Given the description of an element on the screen output the (x, y) to click on. 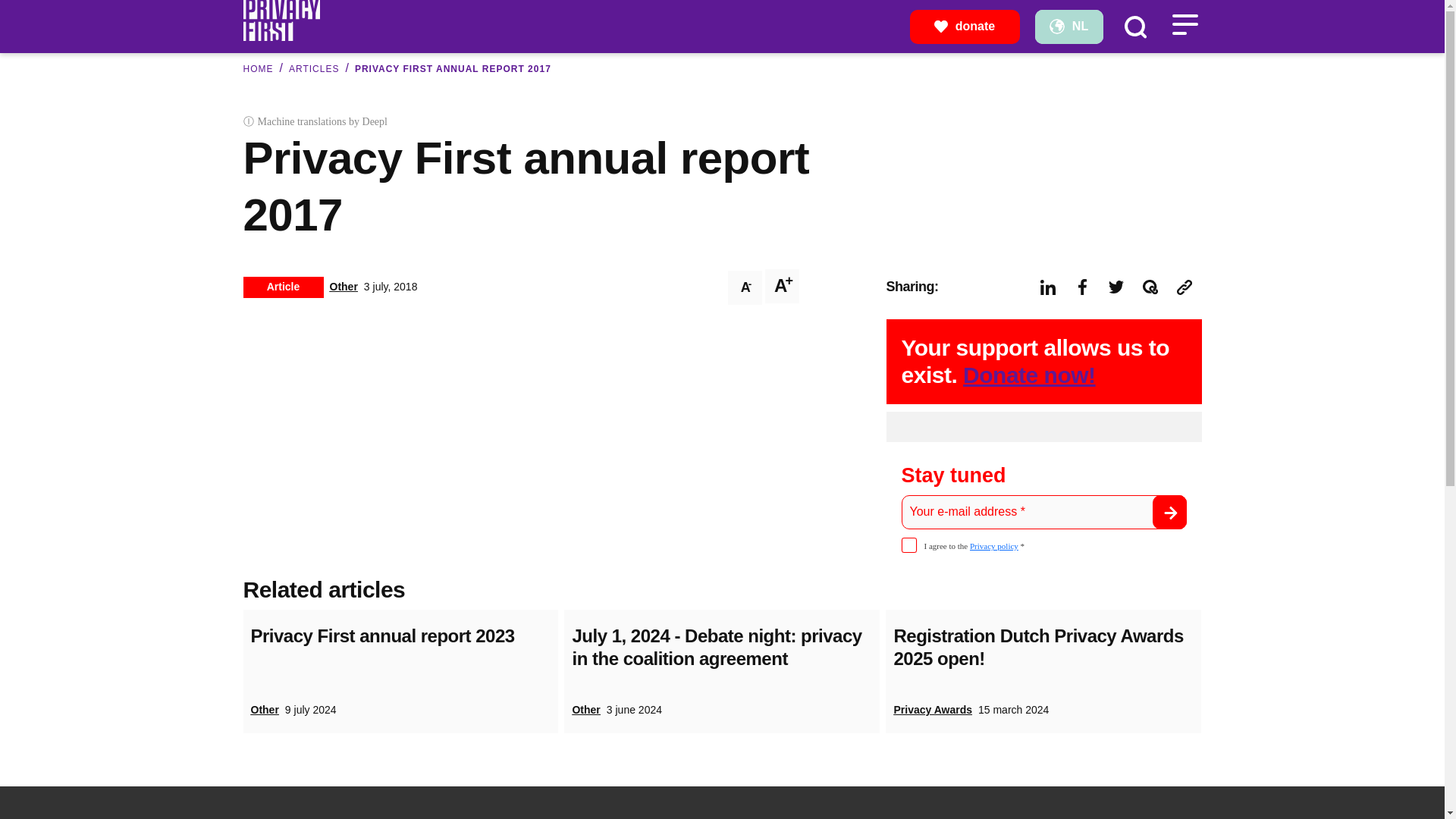
donate (965, 26)
PRIVACY FIRST ANNUAL REPORT 2017 (453, 68)
Privacy First (280, 19)
on (909, 544)
Donate (965, 26)
HOME (258, 68)
Search (1134, 26)
ARTICLES (313, 68)
Open menu (1184, 24)
A- (744, 287)
